Given the description of an element on the screen output the (x, y) to click on. 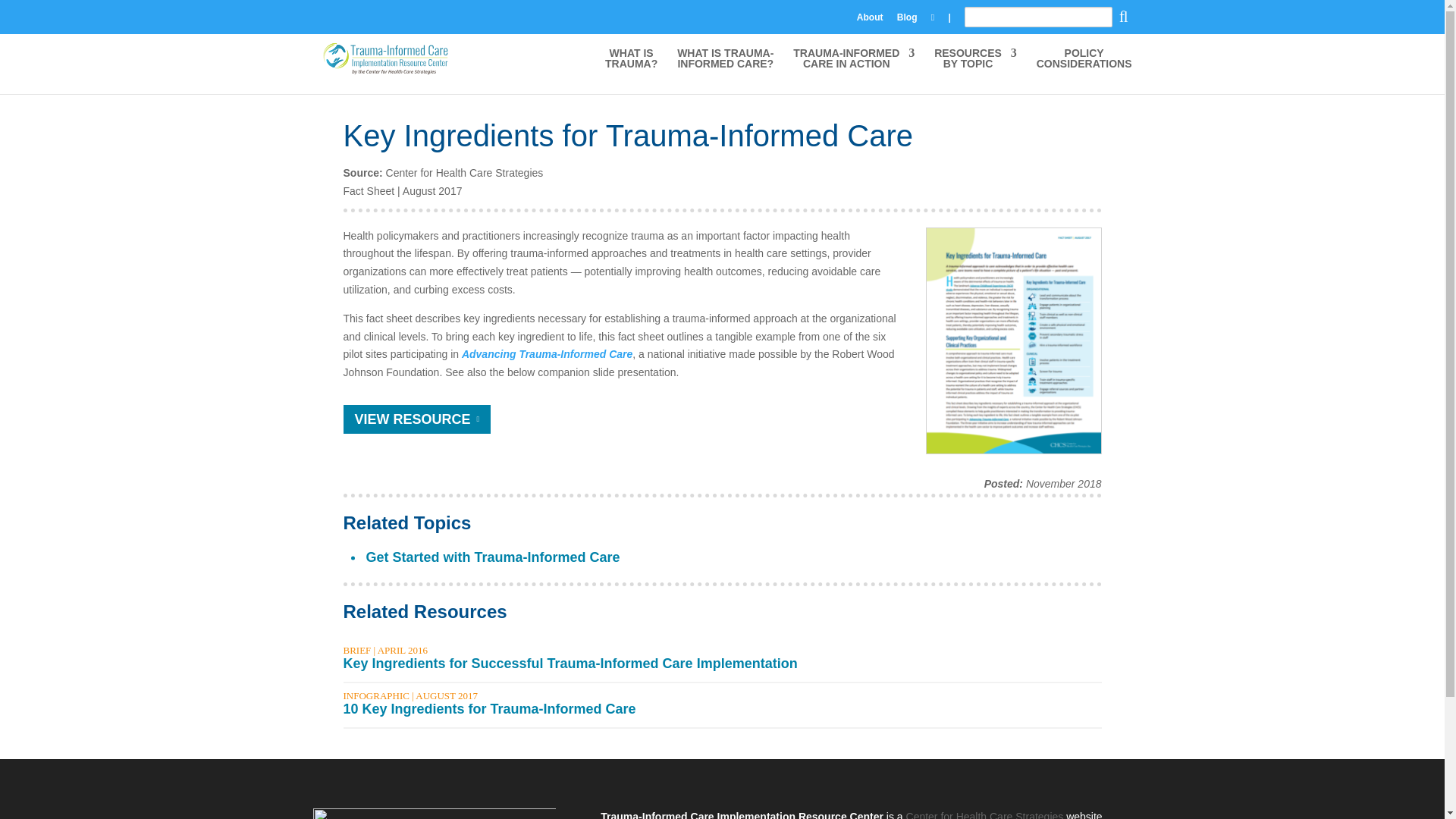
Center for Health Care Strategies (984, 814)
Advancing Trauma-Informed Care (546, 354)
Get Started with Trauma-Informed Care (492, 557)
About (725, 70)
10 Key Ingredients for Trauma-Informed Care (870, 20)
